Given the description of an element on the screen output the (x, y) to click on. 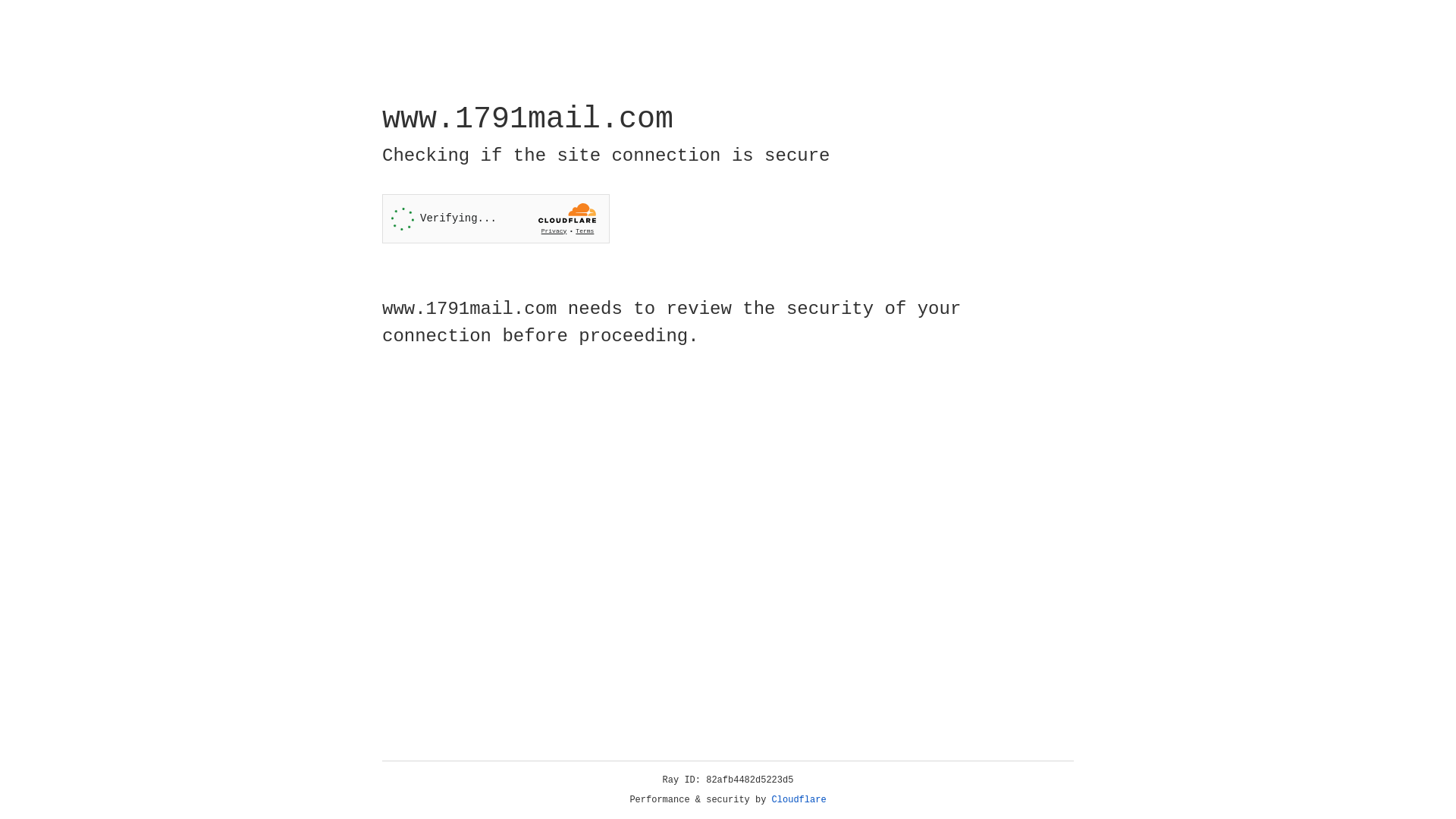
Widget containing a Cloudflare security challenge Element type: hover (495, 218)
Cloudflare Element type: text (798, 799)
